Given the description of an element on the screen output the (x, y) to click on. 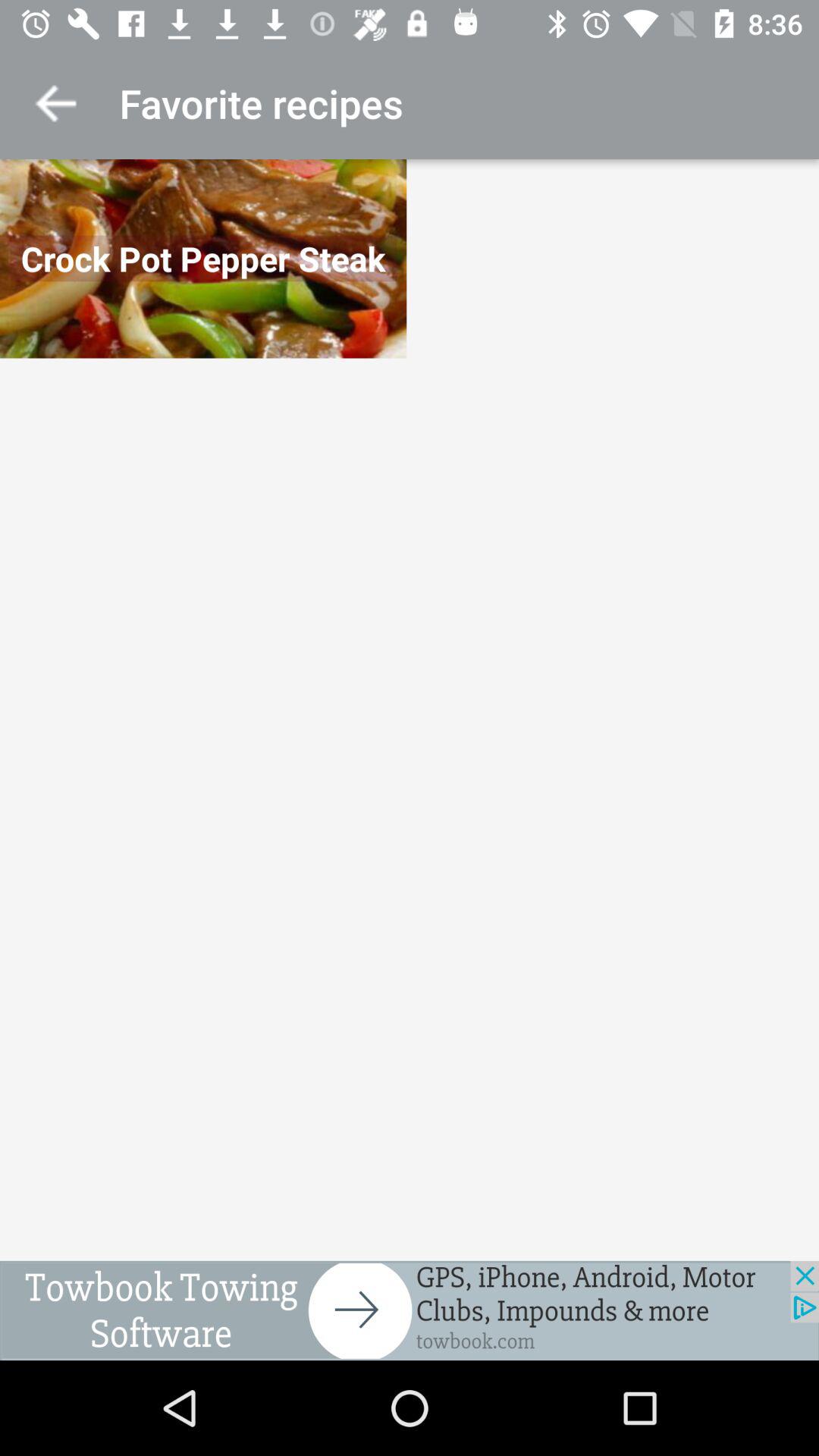
access advertising (409, 1310)
